Given the description of an element on the screen output the (x, y) to click on. 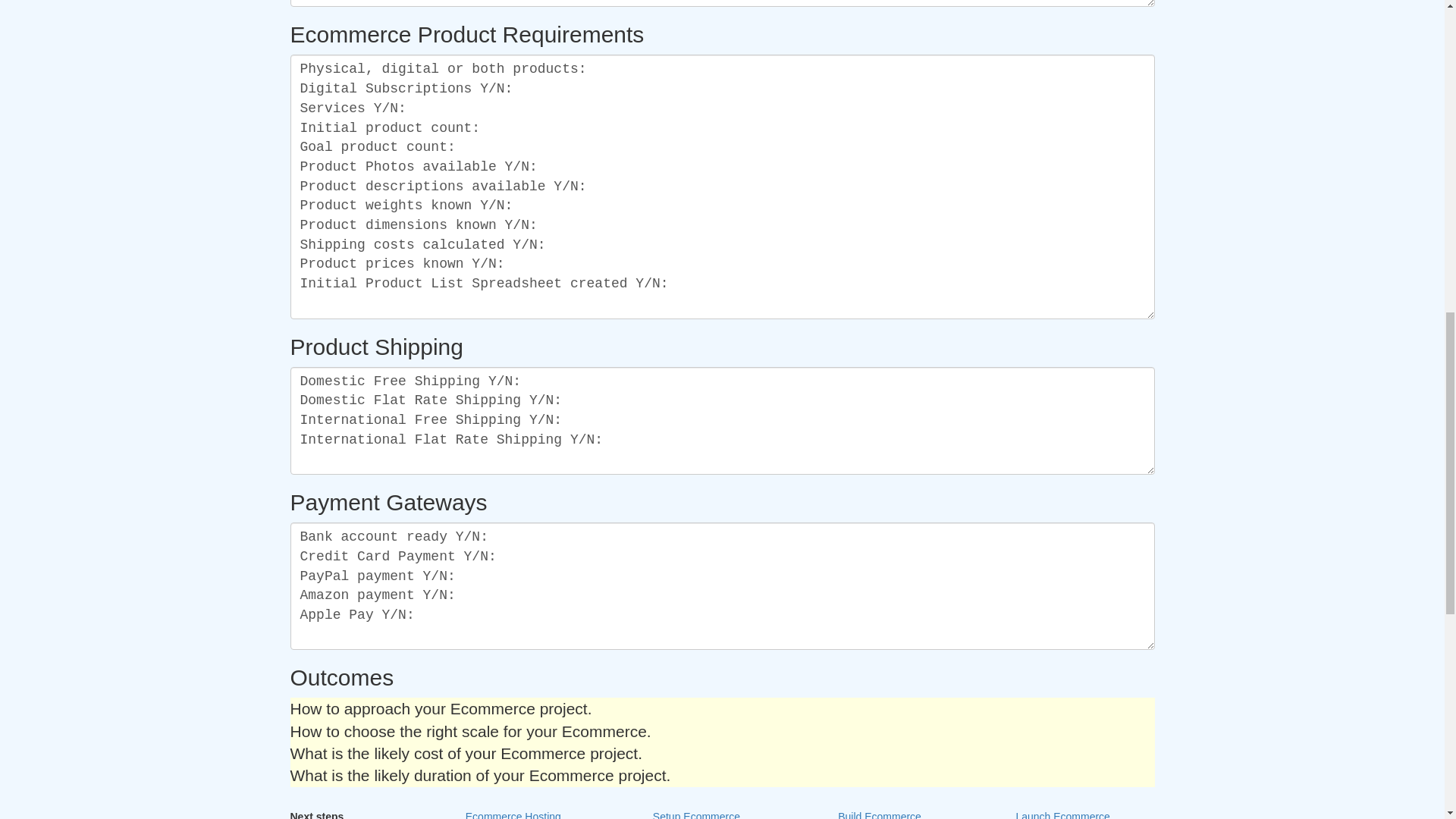
Setup Ecommerce (697, 810)
Ecommerce Hosting (513, 810)
Build Ecommerce (879, 810)
Launch Ecommerce (1062, 810)
